Given the description of an element on the screen output the (x, y) to click on. 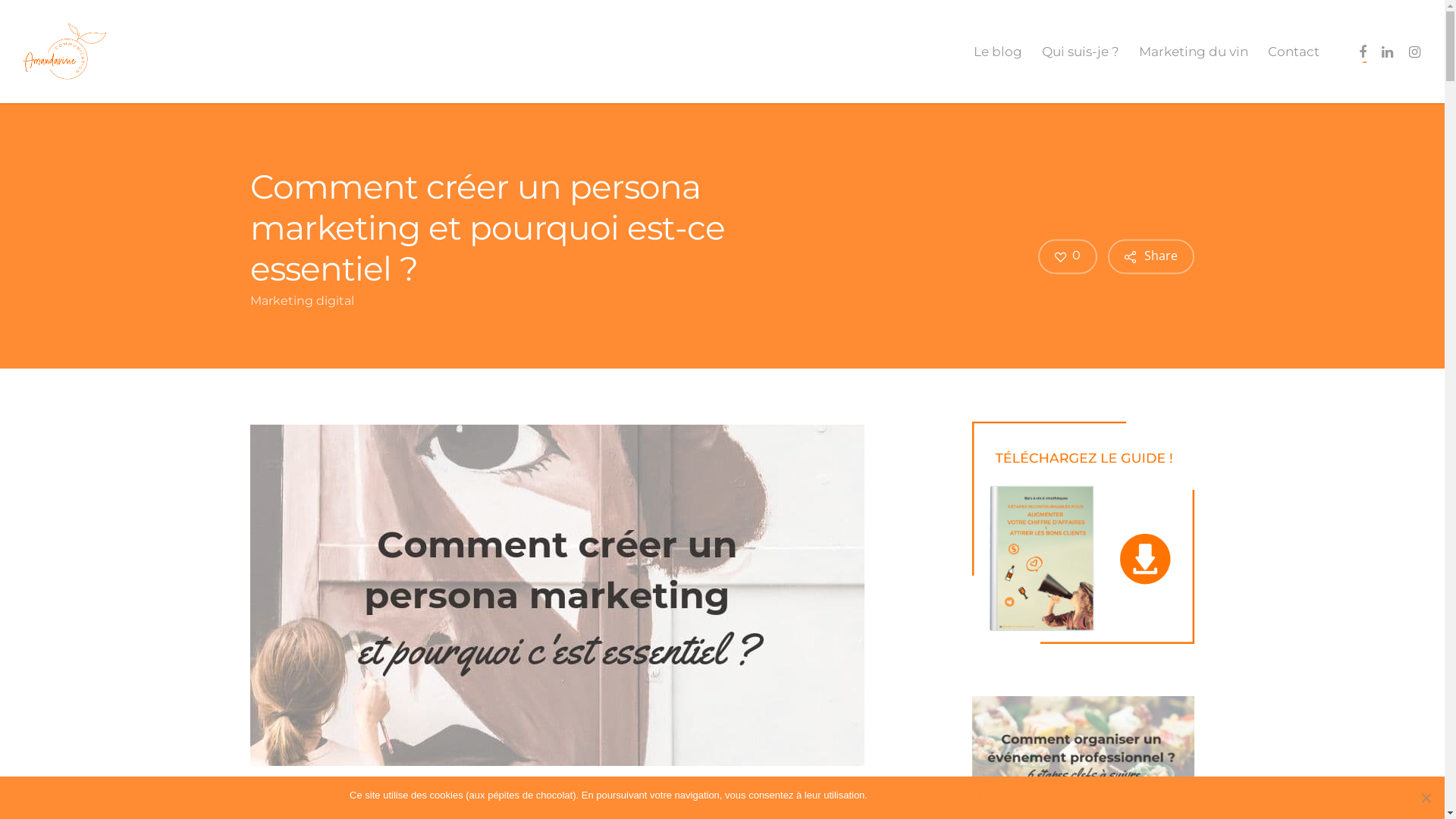
0 Element type: text (1067, 255)
Contact Element type: text (1293, 51)
Non merci Element type: hover (1425, 797)
Non merci Element type: text (947, 795)
severine@amandarine.ch Element type: text (722, 581)
instagram Element type: text (1413, 51)
linkedin Element type: text (1386, 51)
Le blog Element type: text (997, 51)
facebook Element type: text (1362, 51)
Marketing digital Element type: text (302, 299)
Qui suis-je ? Element type: text (1080, 51)
Marketing du vin Element type: text (1193, 51)
